Given the description of an element on the screen output the (x, y) to click on. 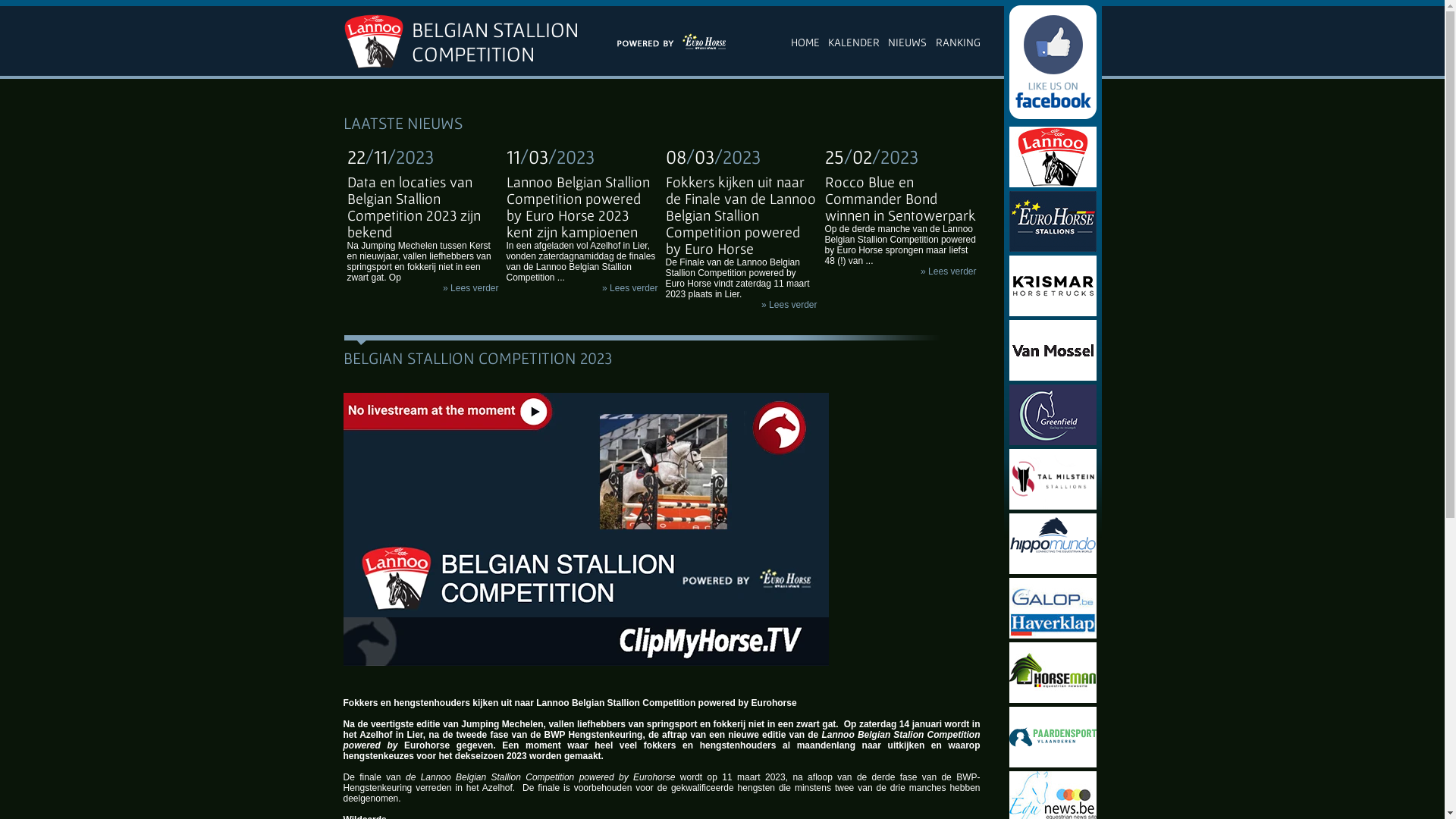
NIEUWS Element type: text (907, 40)
KALENDER Element type: text (853, 40)
HOME Element type: text (804, 40)
RANKING Element type: text (957, 40)
